Given the description of an element on the screen output the (x, y) to click on. 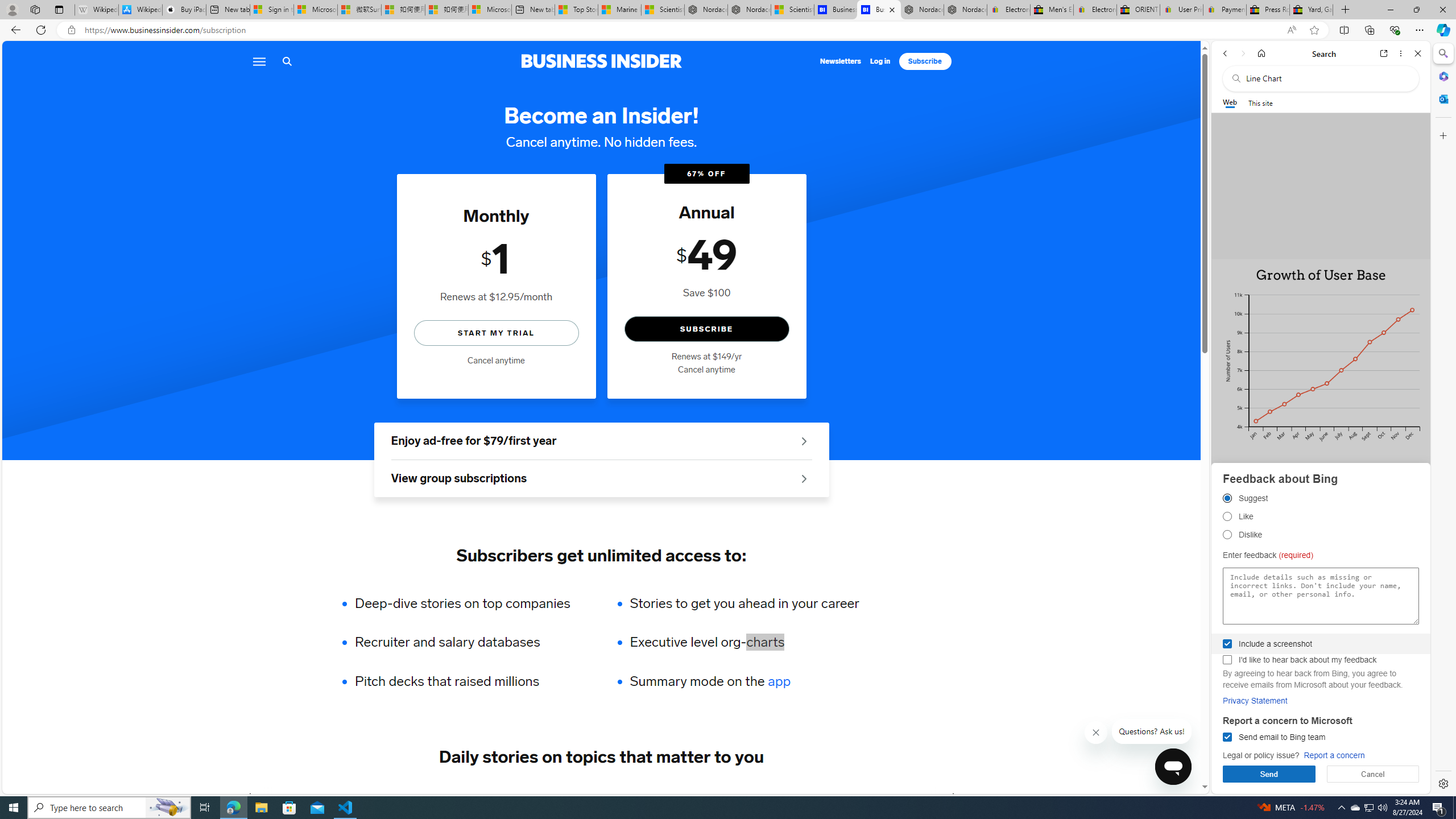
Stories to get you ahead in your career (743, 602)
Executive level org-charts (743, 642)
HEALTHCARE (680, 796)
